Given the description of an element on the screen output the (x, y) to click on. 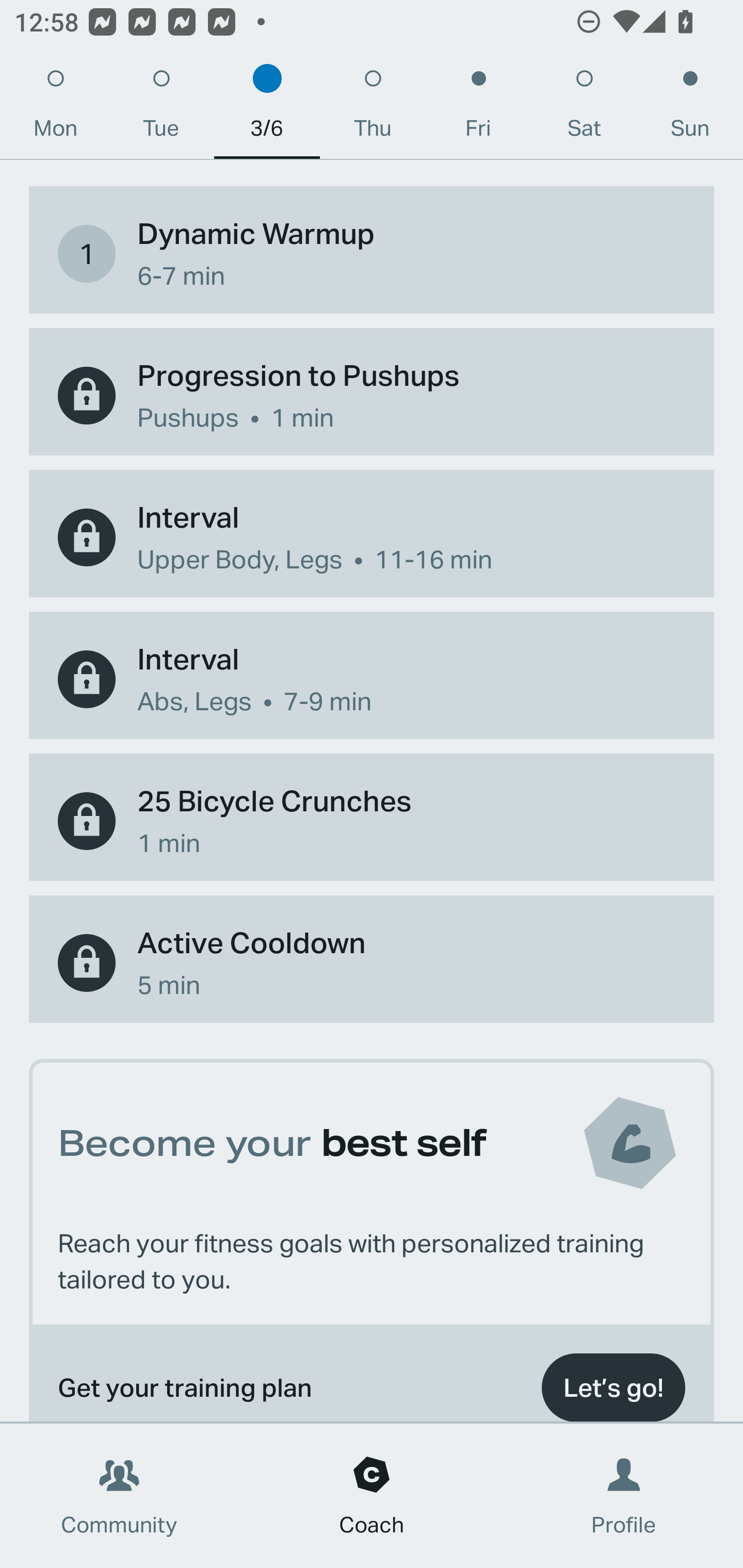
Mon (55, 108)
Tue (160, 108)
3/6 (266, 108)
Thu (372, 108)
Fri (478, 108)
Sat (584, 108)
Sun (690, 108)
1 Dynamic Warmup 6-7 min (371, 253)
Progression to Pushups Pushups  •  1 min (371, 395)
Interval Upper Body, Legs  •  11-16 min (371, 536)
Interval Abs, Legs  •  7-9 min (371, 679)
25 Bicycle Crunches 1 min (371, 820)
Active Cooldown 5 min (371, 963)
Let’s go! (613, 1383)
Community (119, 1495)
Profile (624, 1495)
